Given the description of an element on the screen output the (x, y) to click on. 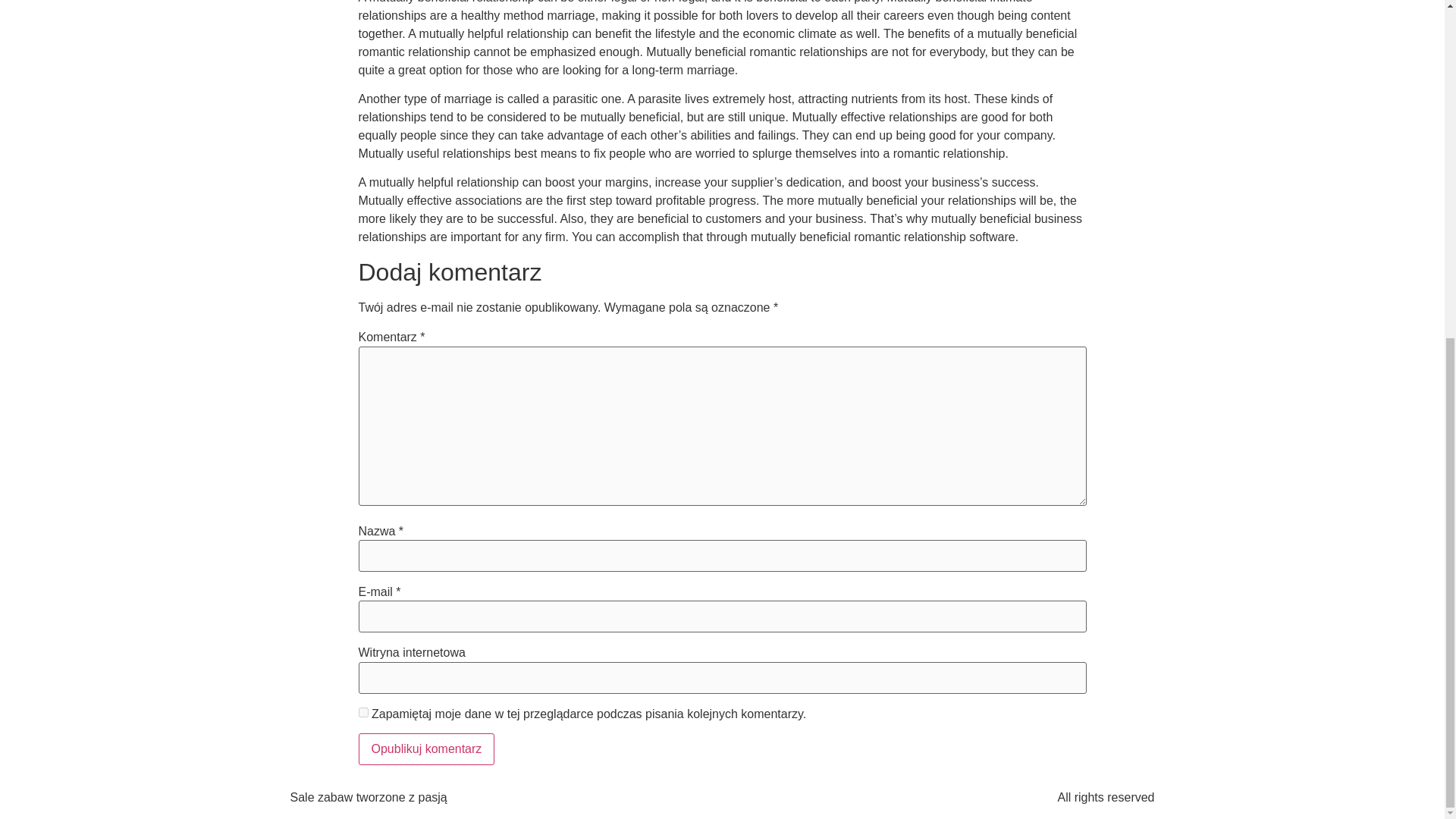
yes (363, 712)
Opublikuj komentarz (426, 748)
Opublikuj komentarz (426, 748)
